Given the description of an element on the screen output the (x, y) to click on. 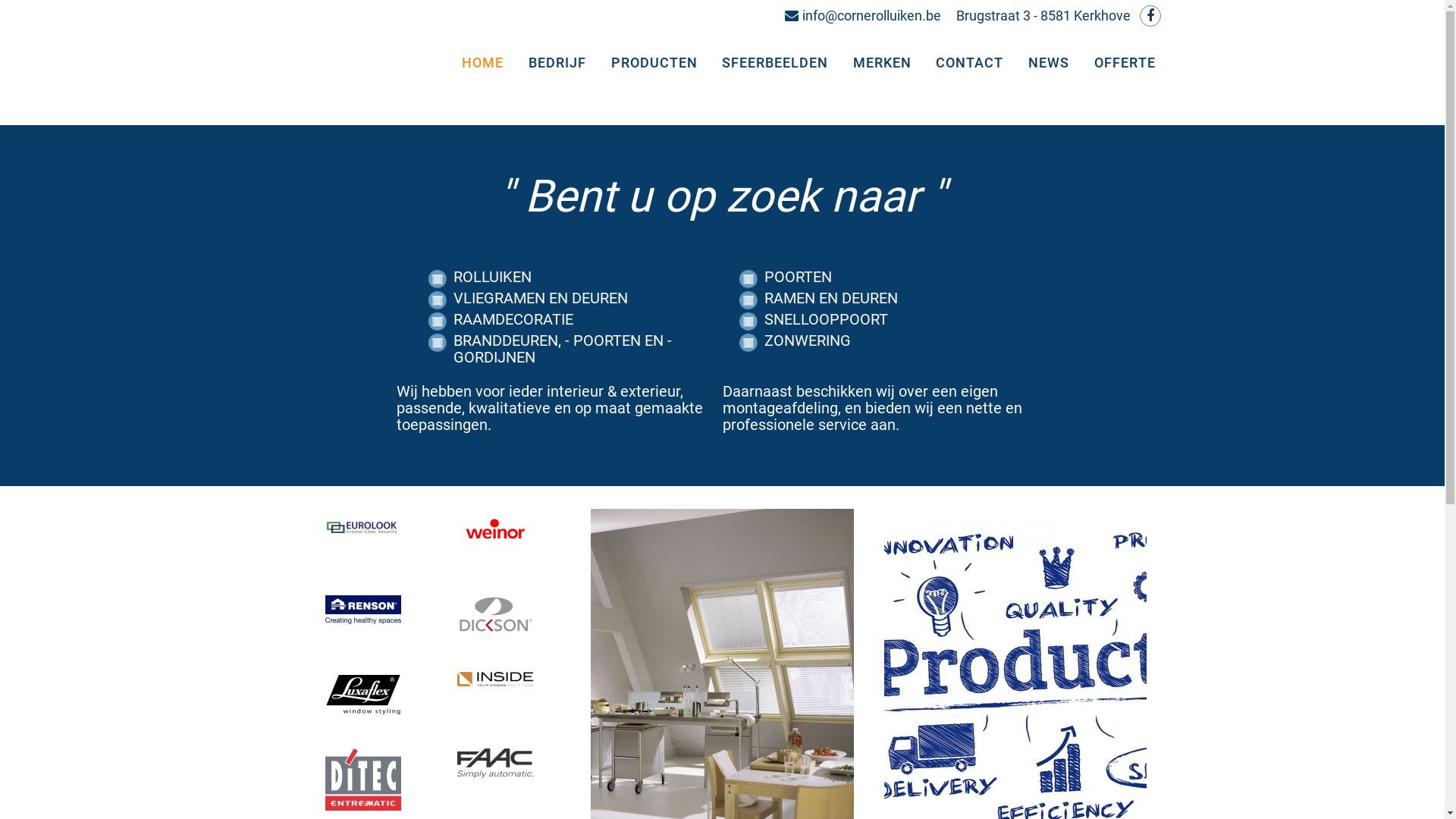
Dickson Element type: hover (495, 613)
ROLLUIKEN Element type: text (577, 276)
RAMEN EN DEUREN Element type: text (888, 297)
Faac Element type: hover (495, 762)
SNELLOOPPOORT Element type: text (888, 318)
RAAMDECORATIE Element type: text (577, 318)
Next Element type: text (567, 661)
Eurolook Element type: hover (363, 527)
BRANDDEUREN, - POORTEN EN -GORDIJNEN Element type: text (577, 348)
Previous Element type: text (271, 661)
PRODUCTEN Element type: text (656, 62)
OFFERTE Element type: text (1126, 62)
HOME Element type: text (485, 62)
MERKEN Element type: text (884, 62)
ZONWERING Element type: text (888, 340)
Renson Element type: hover (363, 608)
NEWS Element type: text (1050, 62)
Weinor Element type: hover (495, 528)
VLIEGRAMEN EN DEUREN Element type: text (577, 297)
Ditec  Element type: hover (363, 778)
Inside Element type: hover (495, 678)
info@cornerolluiken.be Element type: text (862, 15)
LUXAFLEX Element type: hover (363, 694)
CONTACT Element type: text (971, 62)
SFEERBEELDEN Element type: text (777, 62)
POORTEN Element type: text (888, 276)
BEDRIJF Element type: text (559, 62)
